Given the description of an element on the screen output the (x, y) to click on. 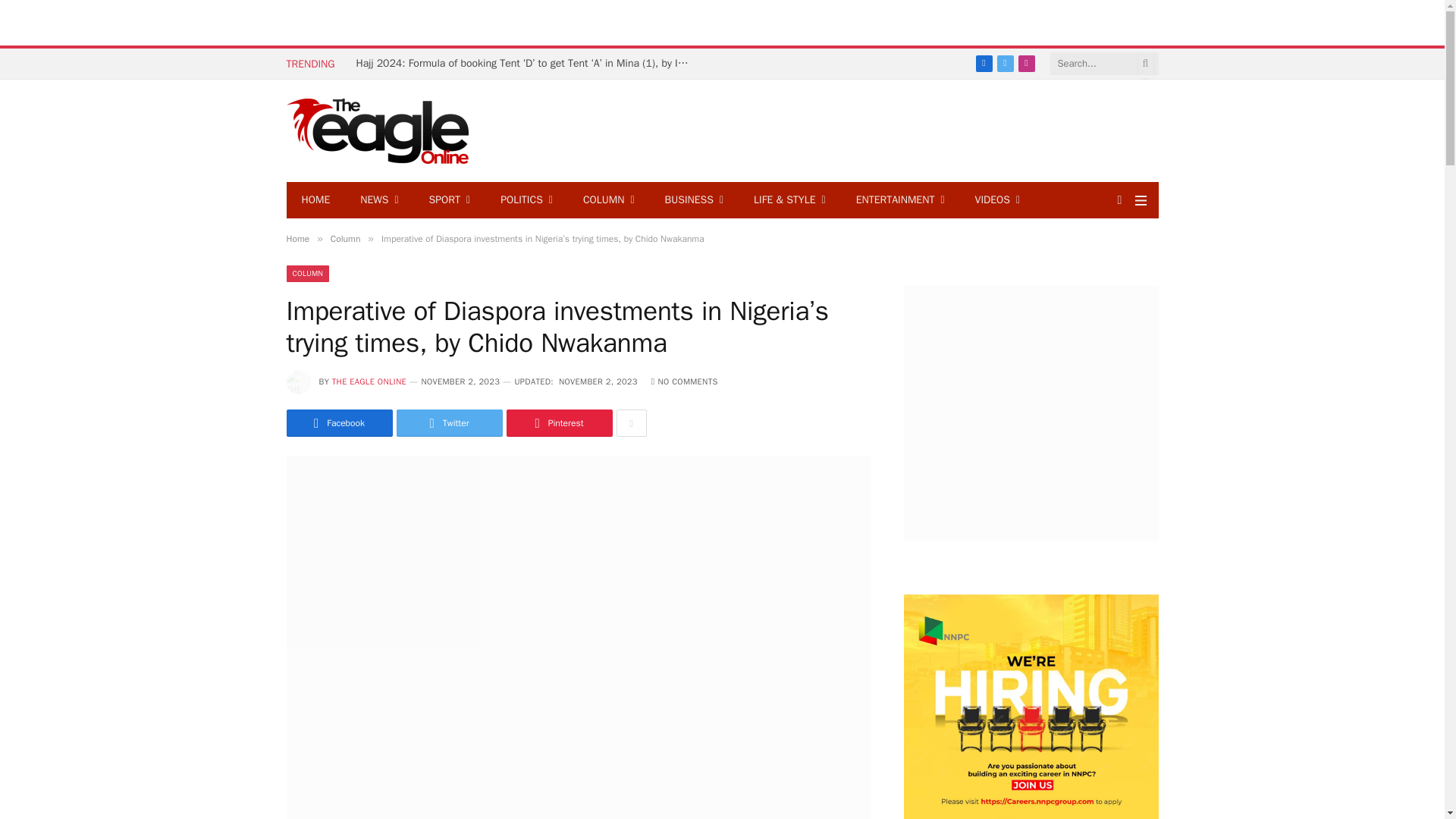
Twitter (1004, 63)
HOME (316, 199)
Facebook (983, 63)
Instagram (1025, 63)
The Eagle Online (377, 130)
NEWS (379, 199)
